Given the description of an element on the screen output the (x, y) to click on. 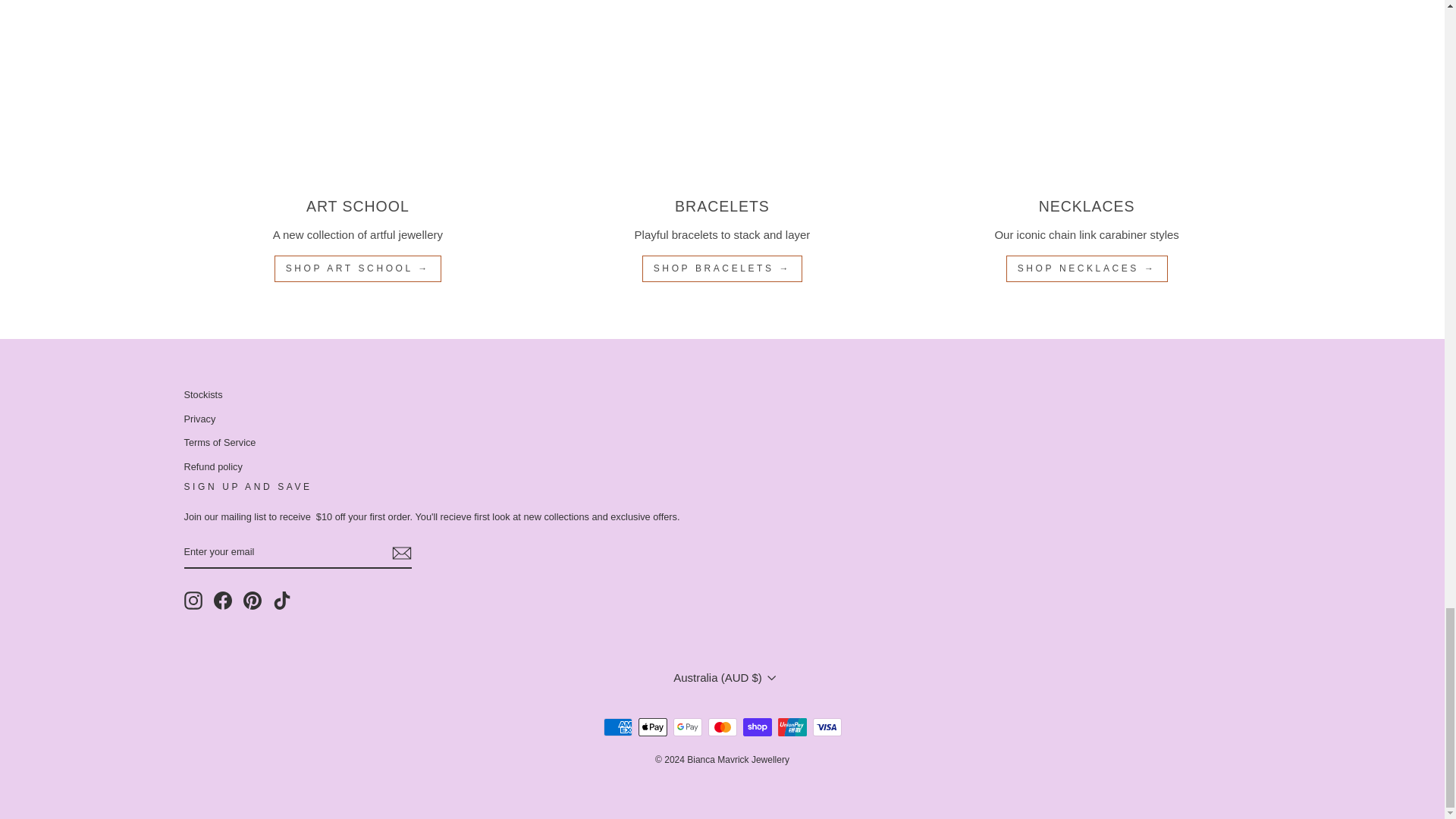
American Express (617, 727)
Bianca Mavrick Jewellery on Pinterest (251, 600)
Bianca Mavrick Jewellery on Instagram (192, 600)
Bianca Mavrick Jewellery on TikTok (282, 600)
Apple Pay (652, 727)
Bianca Mavrick Jewellery on Facebook (222, 600)
